Given the description of an element on the screen output the (x, y) to click on. 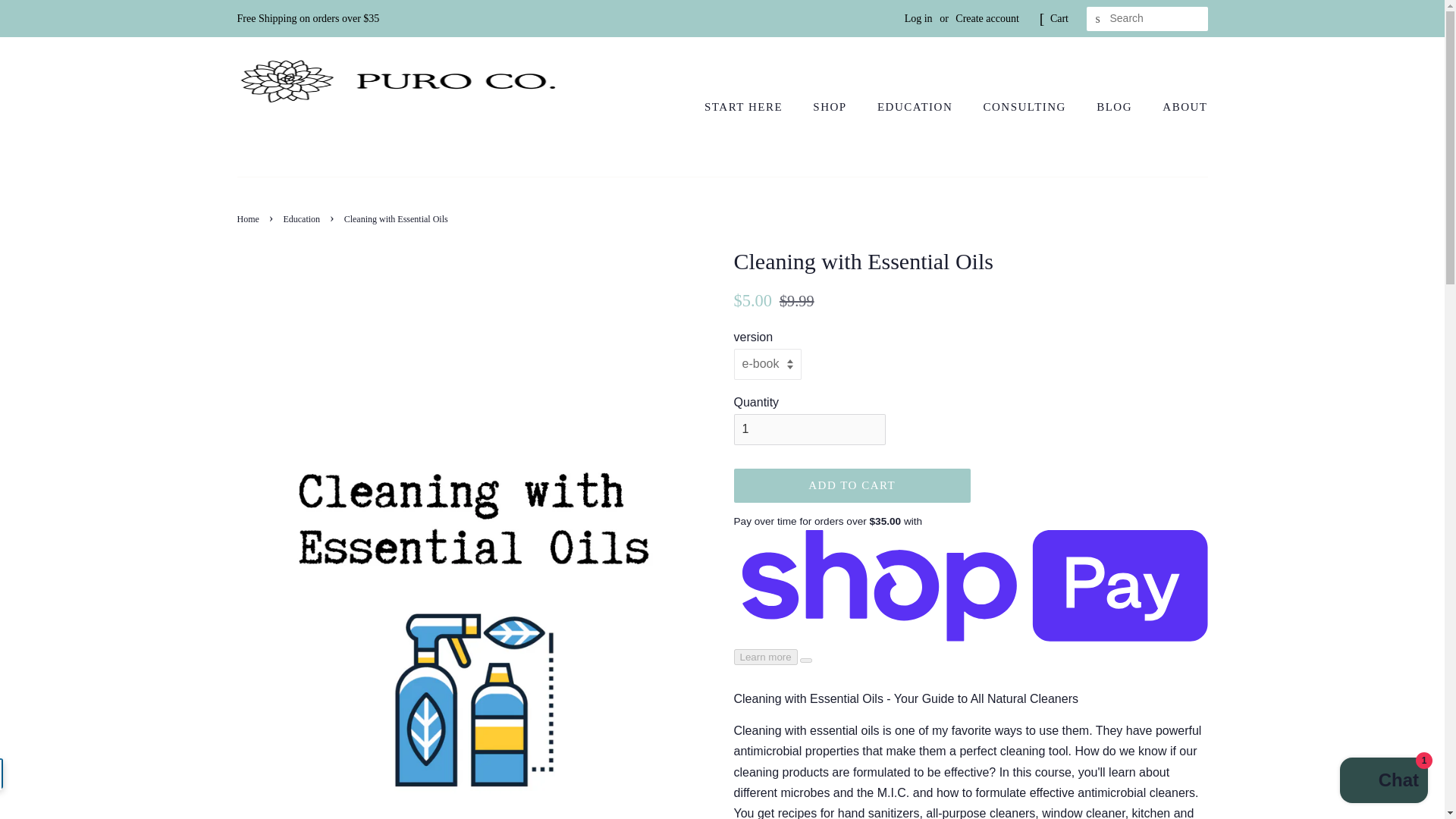
Shopify online store chat (1383, 781)
CONSULTING (1026, 107)
START HERE (750, 107)
ABOUT (1179, 107)
Home (248, 218)
ADD TO CART (852, 485)
BLOG (1115, 107)
SHOP (831, 107)
SEARCH (1097, 18)
Create account (987, 18)
EDUCATION (917, 107)
Back to the frontpage (248, 218)
Cart (1058, 18)
Education (302, 218)
1 (809, 429)
